Given the description of an element on the screen output the (x, y) to click on. 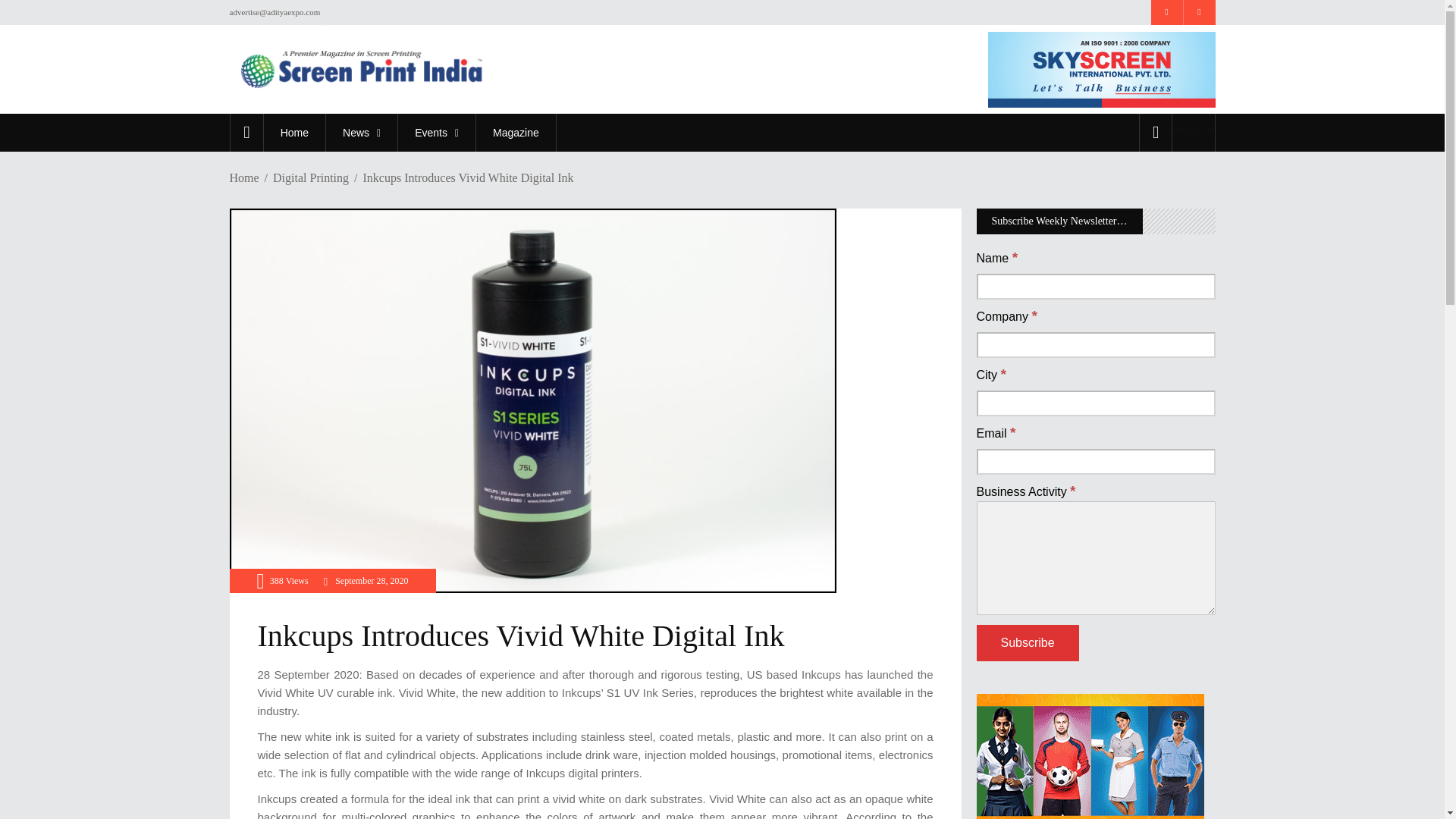
Magazine (516, 132)
Subscribe (1193, 129)
News (360, 132)
Home (293, 132)
Events (436, 132)
Subscribe (1027, 642)
